Given the description of an element on the screen output the (x, y) to click on. 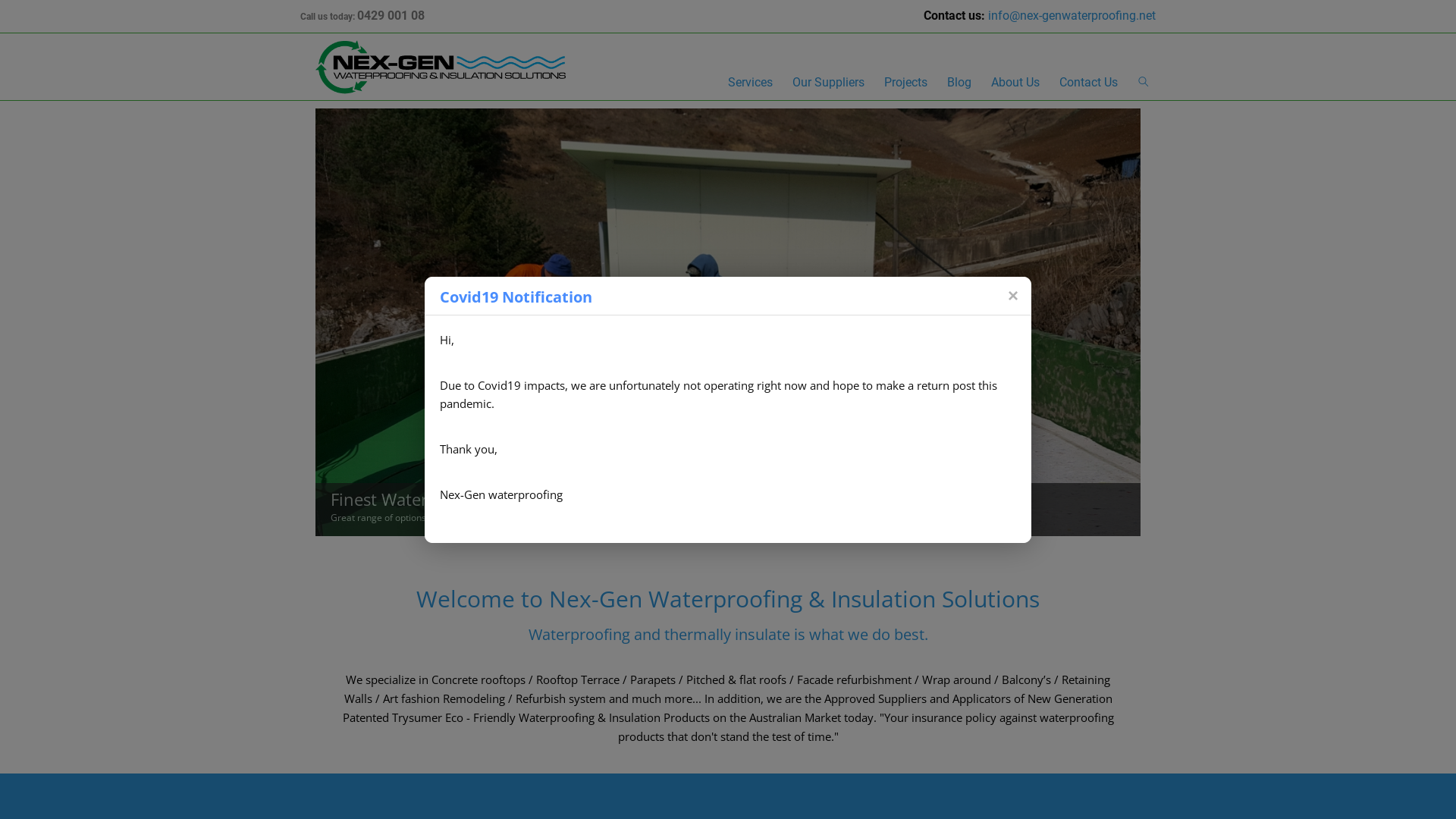
Close this box Element type: hover (1012, 294)
Services Element type: text (749, 84)
Contact Us Element type: text (1088, 84)
Blog Element type: text (959, 84)
About Us Element type: text (1015, 84)
Our Suppliers Element type: text (828, 84)
Projects Element type: text (905, 84)
info@nex-genwaterproofing.net Element type: text (1071, 15)
0429 001 08 Element type: text (390, 15)
